Given the description of an element on the screen output the (x, y) to click on. 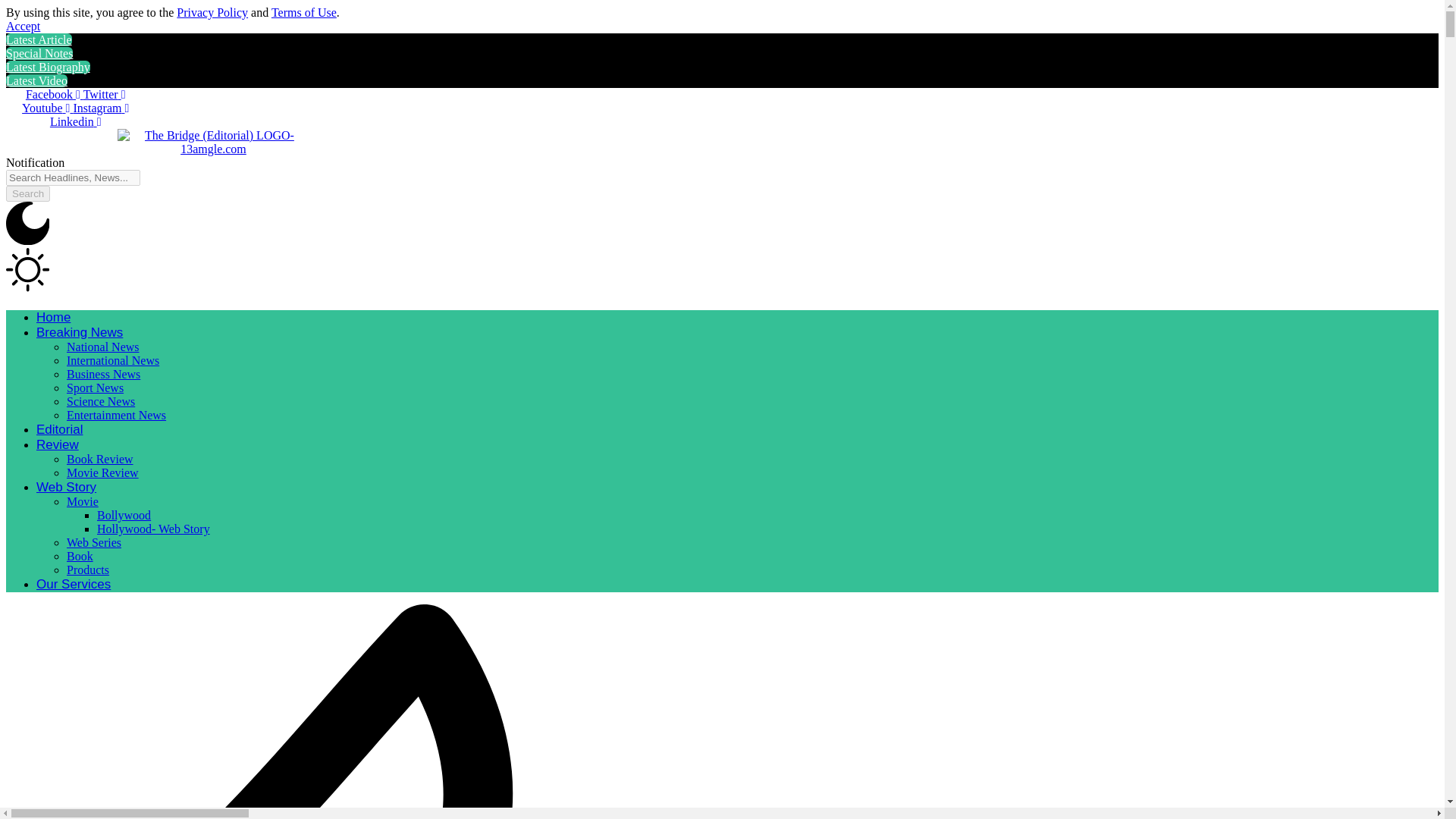
Instagram (100, 107)
Movie Review (102, 472)
International News (112, 359)
Entertainment News (115, 414)
Hollywood- Web Story (153, 528)
Breaking News (79, 332)
Book (79, 555)
Bollywood (124, 514)
Products (87, 569)
Latest Biography (47, 66)
